Given the description of an element on the screen output the (x, y) to click on. 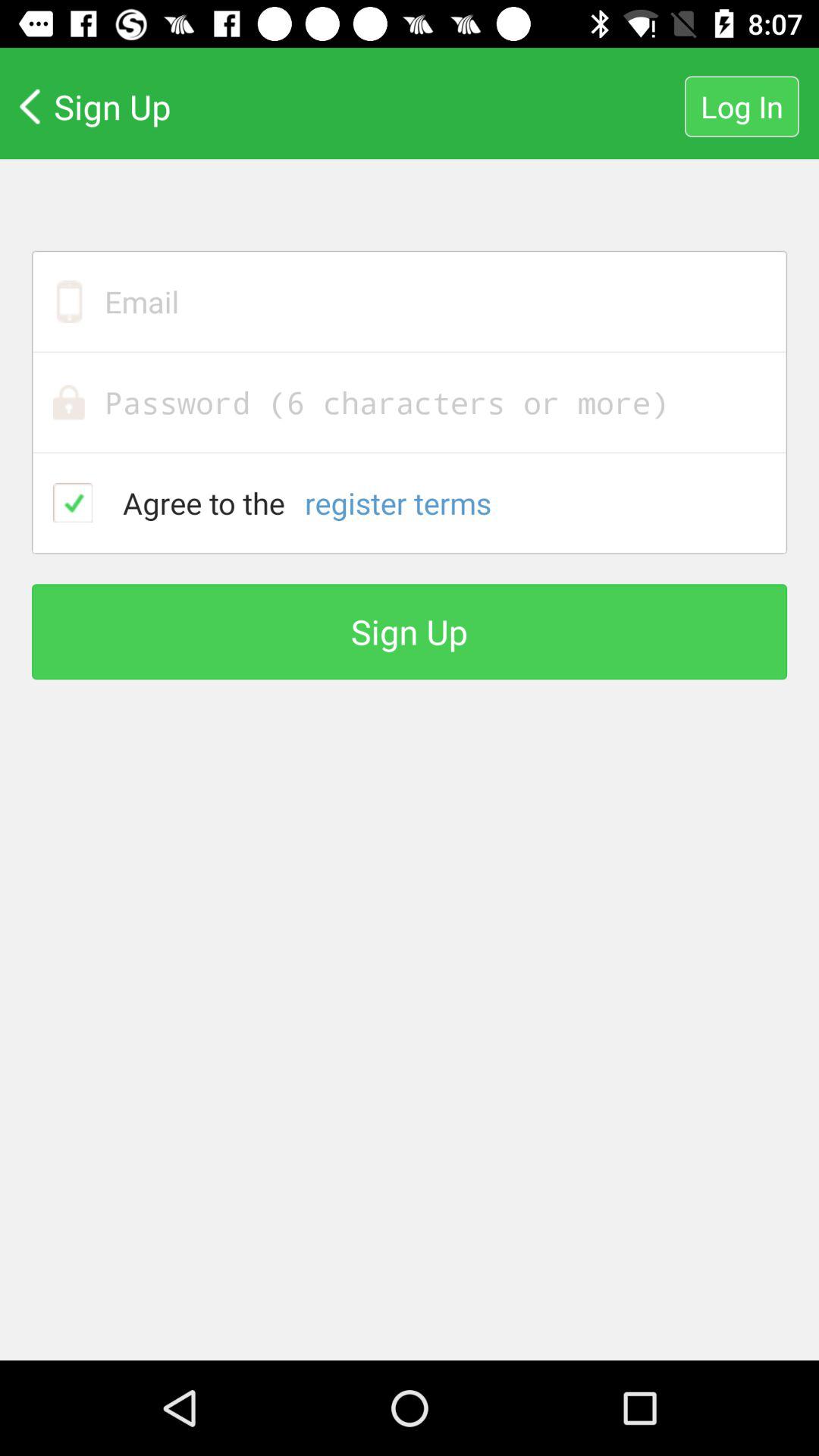
enter email (409, 301)
